Given the description of an element on the screen output the (x, y) to click on. 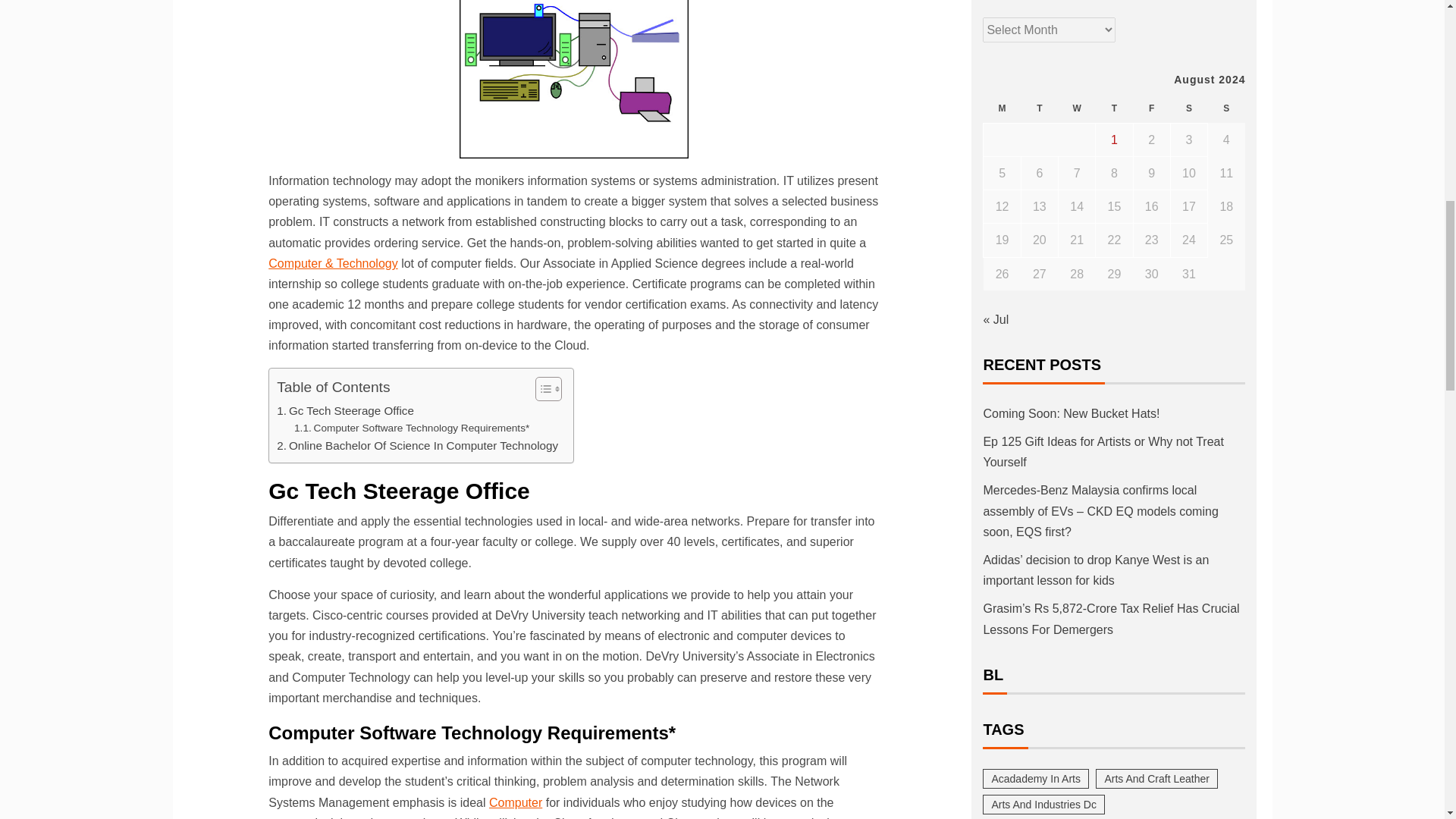
Online Bachelor Of Science In Computer Technology (416, 445)
Wednesday (1077, 108)
Online Bachelor Of Science In Computer Technology (416, 445)
Thursday (1114, 108)
Gc Tech Steerage Office (344, 411)
Monday (1002, 108)
Friday (1151, 108)
Computer (515, 802)
Tuesday (1039, 108)
